Given the description of an element on the screen output the (x, y) to click on. 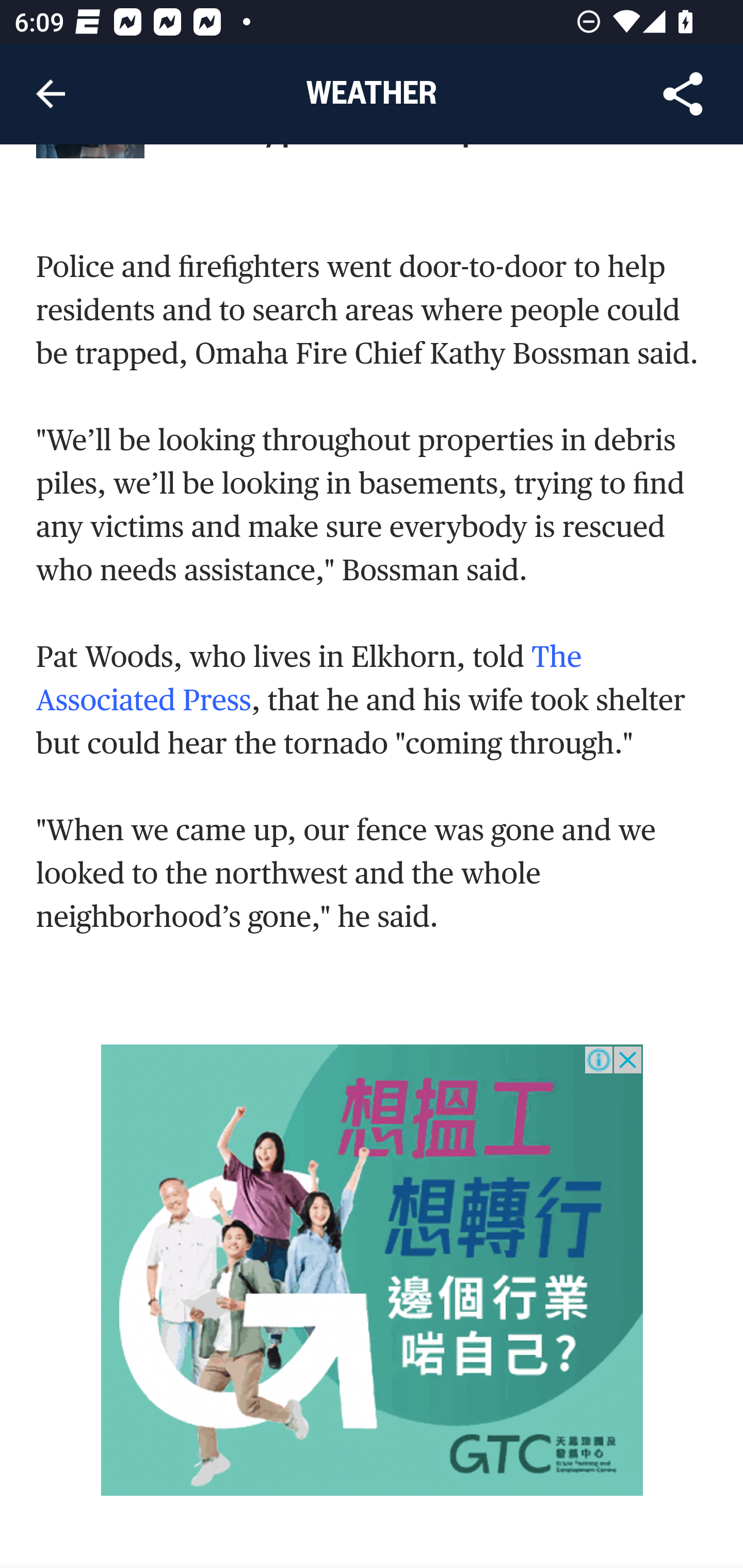
Navigate up (50, 93)
Share Article, button (683, 94)
The Associated Press (309, 678)
course_content_main_ERB (372, 1271)
